Given the description of an element on the screen output the (x, y) to click on. 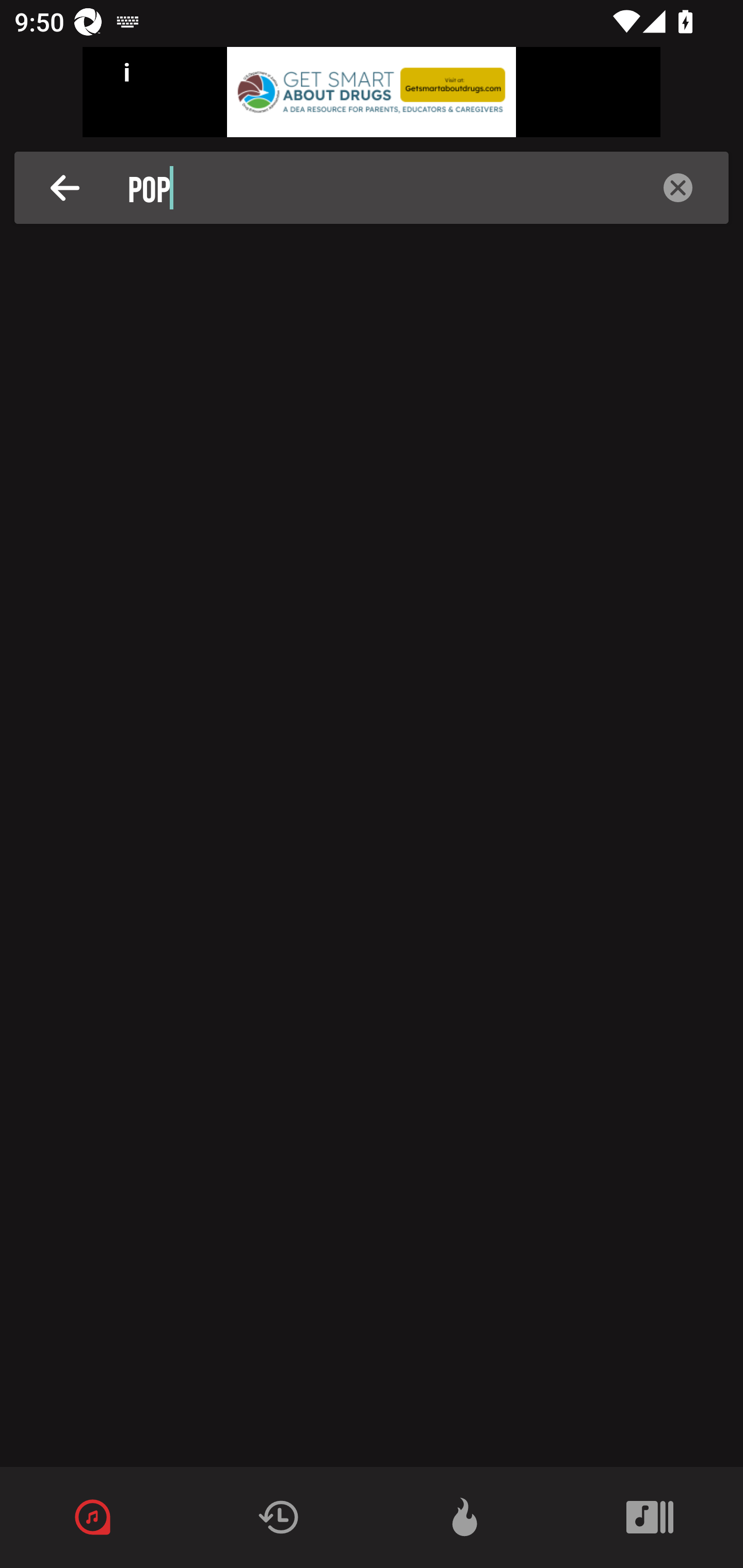
Pop (377, 188)
Description (64, 188)
Description (677, 188)
